Given the description of an element on the screen output the (x, y) to click on. 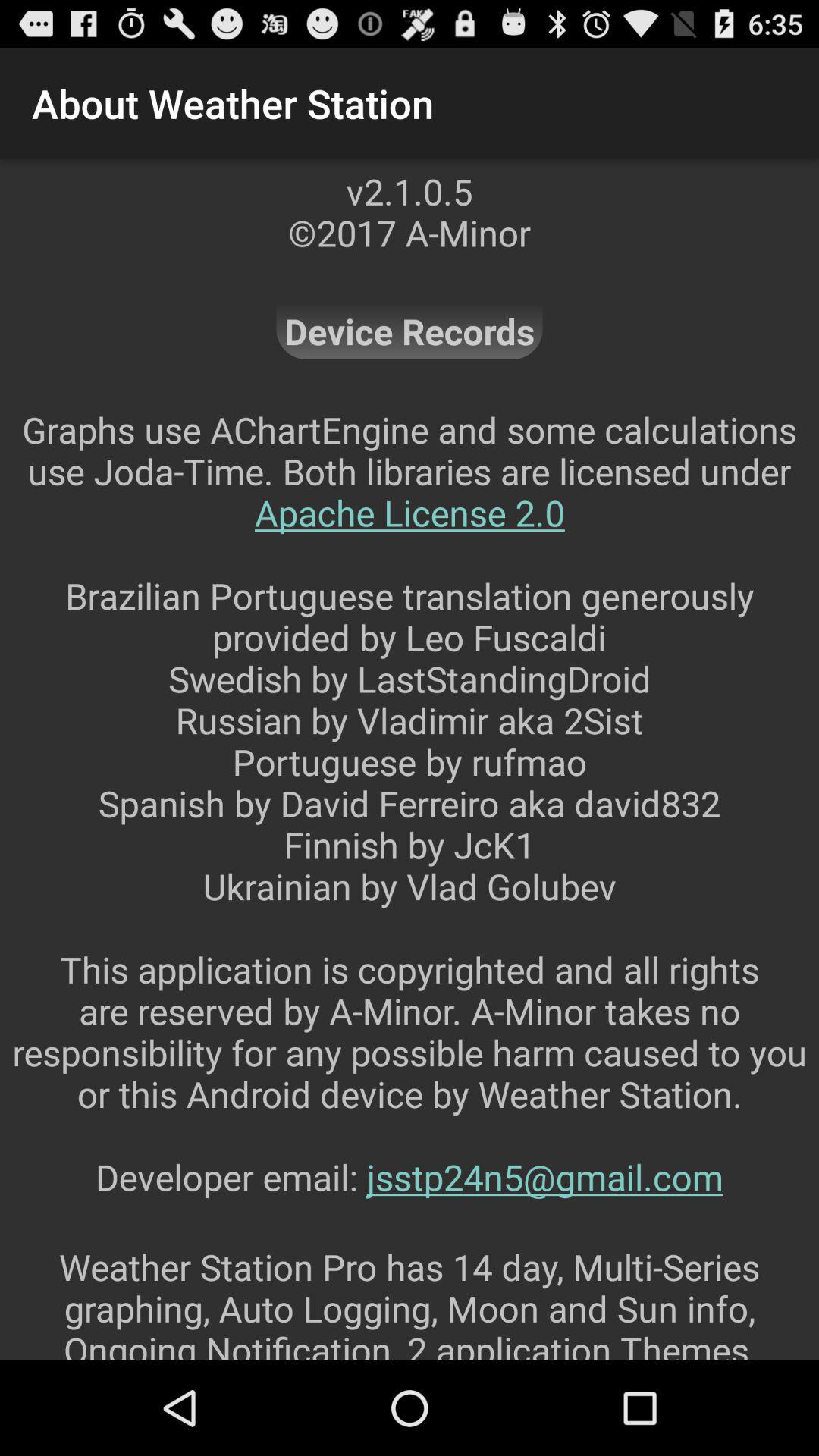
click app below device records (409, 823)
